Given the description of an element on the screen output the (x, y) to click on. 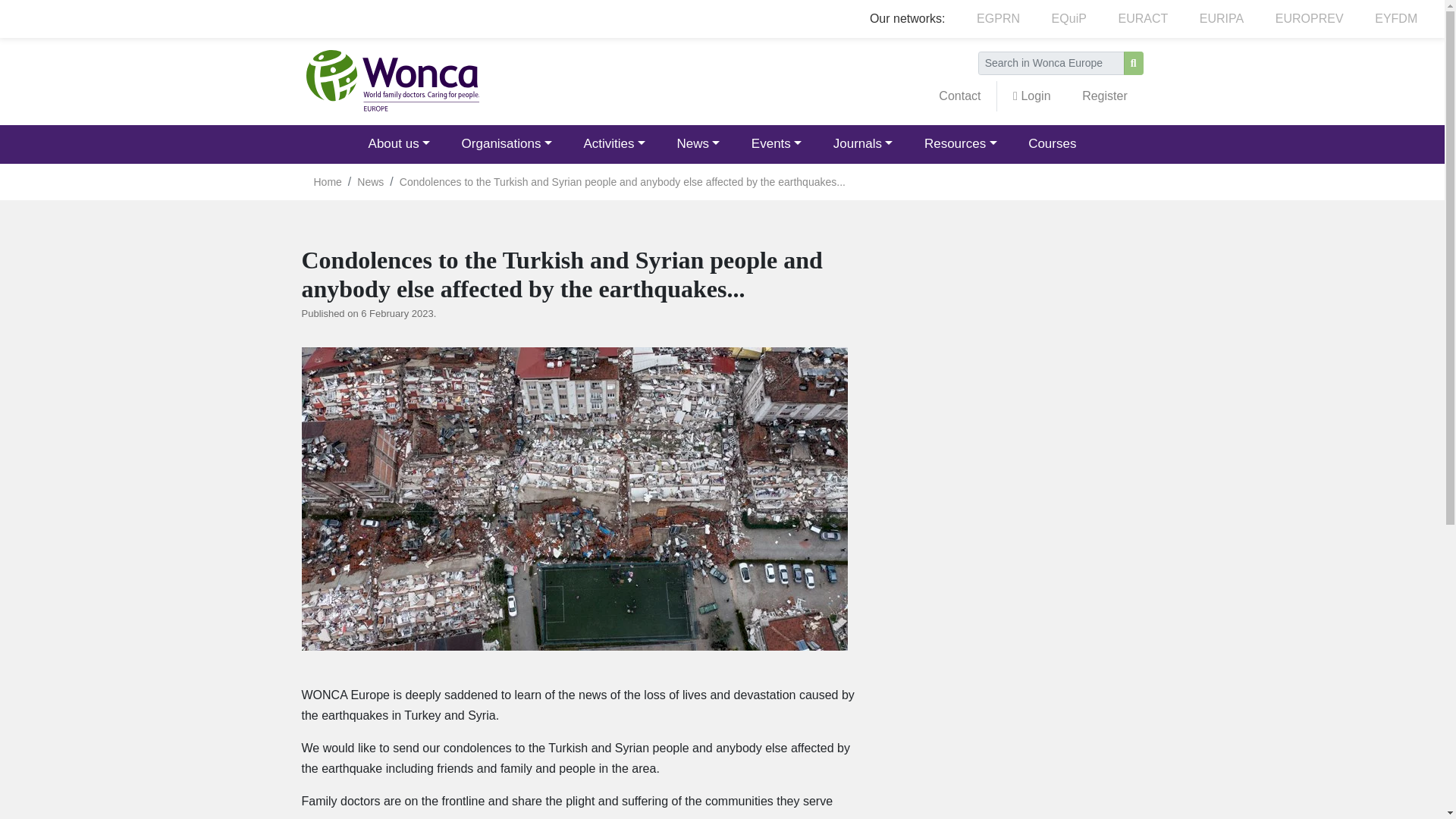
About us (398, 144)
EUROPREV (1308, 19)
Activities (614, 144)
EQuiP (1068, 19)
Organisations (506, 144)
European Rural and Isolated Practitioners Association (1221, 19)
Our networks: (906, 19)
EGPRN (997, 19)
Home (390, 81)
EYFDM (1395, 19)
European Academy of Teachers in General Practice (1142, 19)
EURIPA (1221, 19)
European General Practice Research Network (997, 19)
Login (1031, 96)
